Given the description of an element on the screen output the (x, y) to click on. 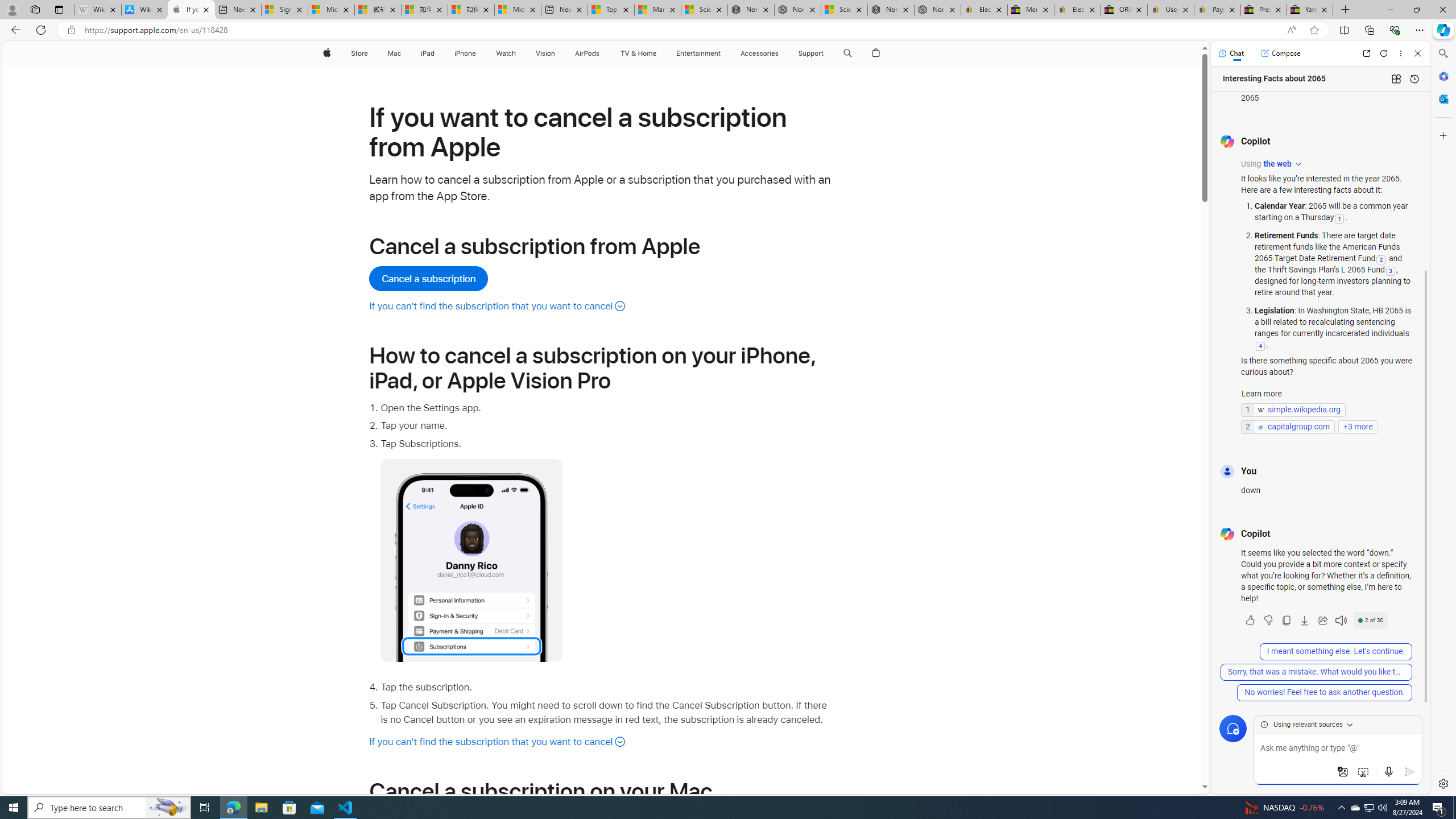
iPhone menu (477, 53)
AirPods menu (601, 53)
iPad (427, 53)
Search Support (847, 53)
TV & Home (637, 53)
